Given the description of an element on the screen output the (x, y) to click on. 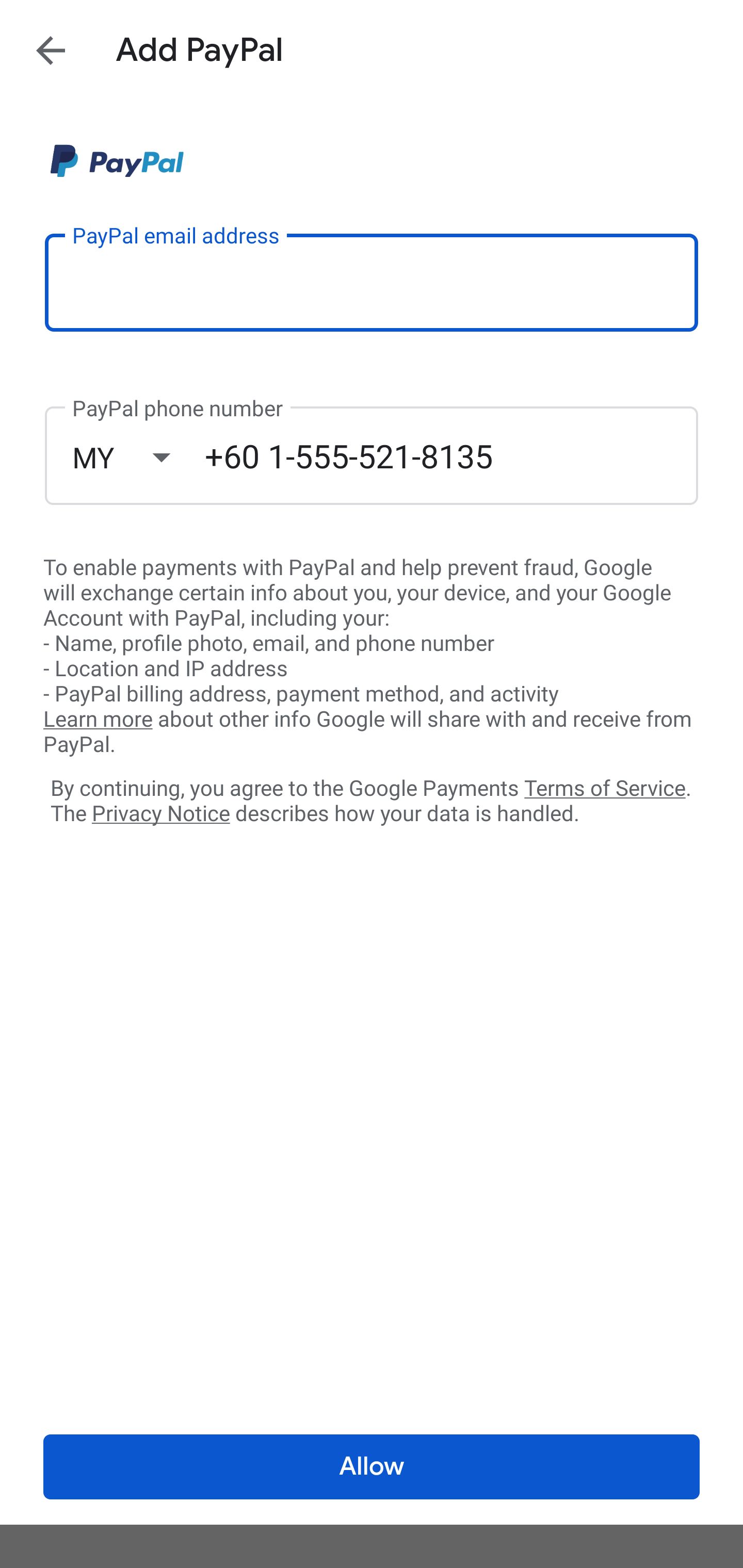
Navigate up (50, 50)
PayPal email address (371, 282)
MY (138, 456)
Learn more (97, 719)
Terms of Service (604, 787)
Privacy Notice (160, 814)
Allow (371, 1466)
